Given the description of an element on the screen output the (x, y) to click on. 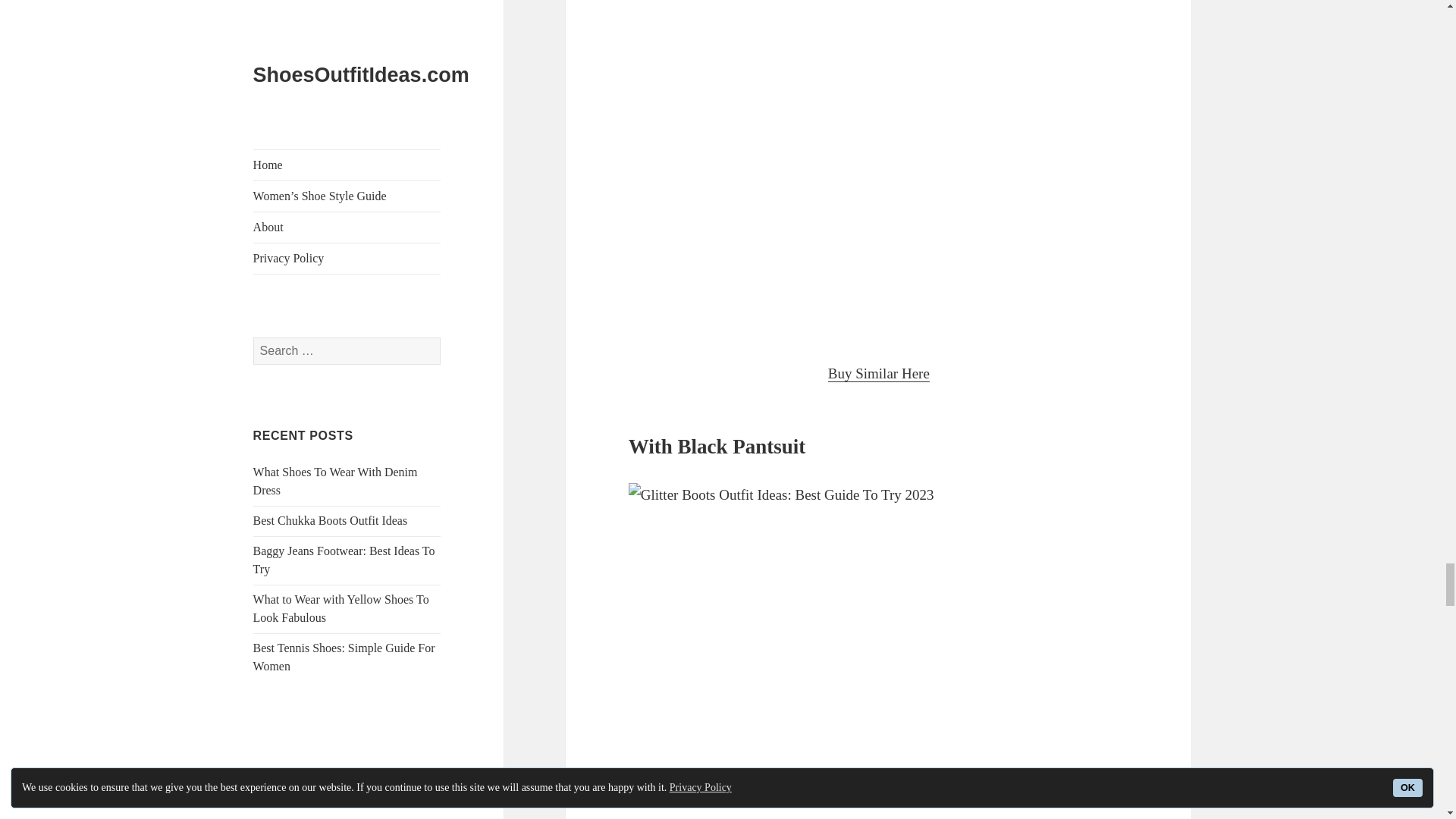
Buy Similar Here (879, 373)
